Given the description of an element on the screen output the (x, y) to click on. 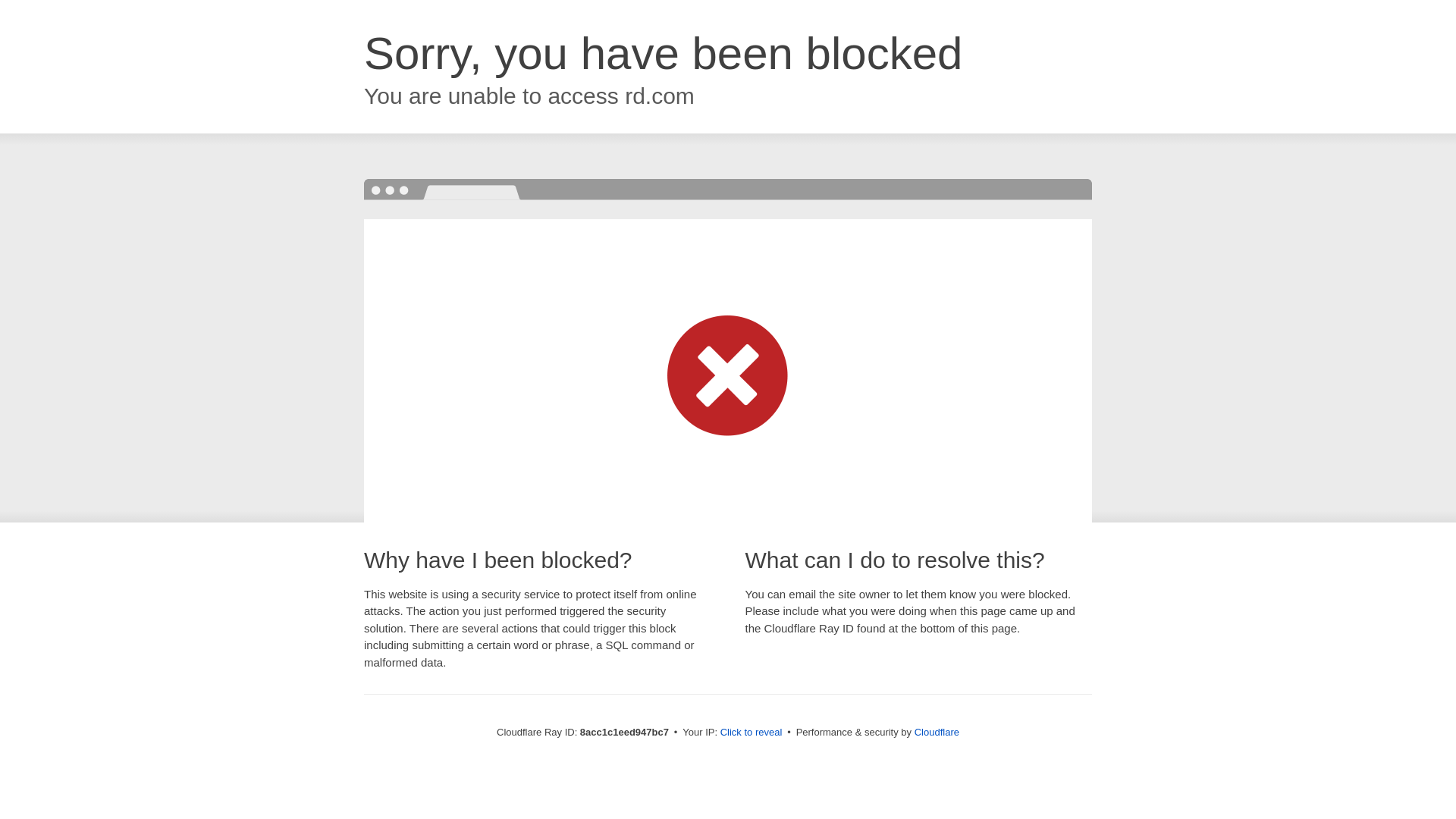
Cloudflare (936, 731)
Click to reveal (751, 732)
